Given the description of an element on the screen output the (x, y) to click on. 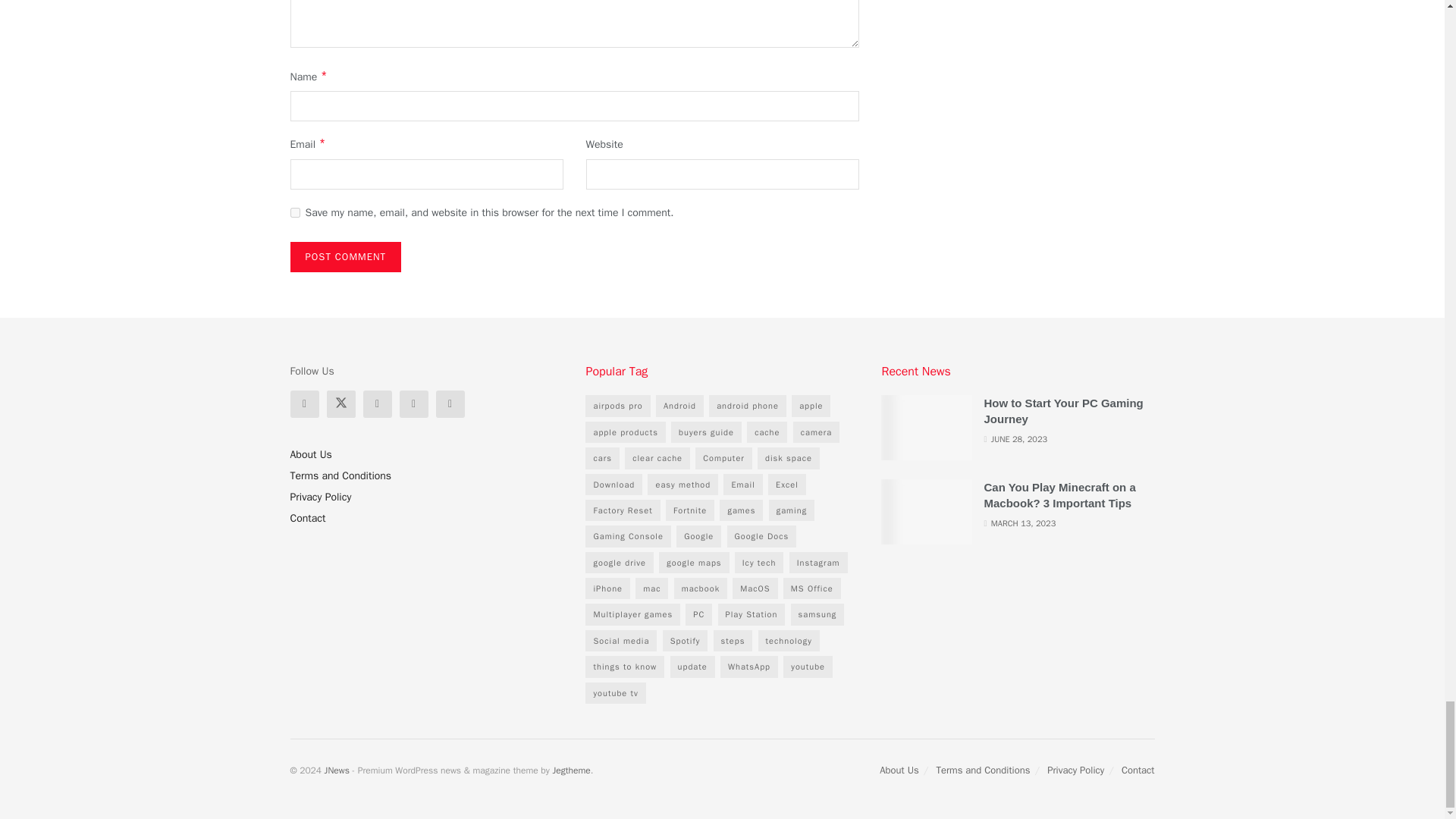
Post Comment (345, 256)
yes (294, 212)
